Given the description of an element on the screen output the (x, y) to click on. 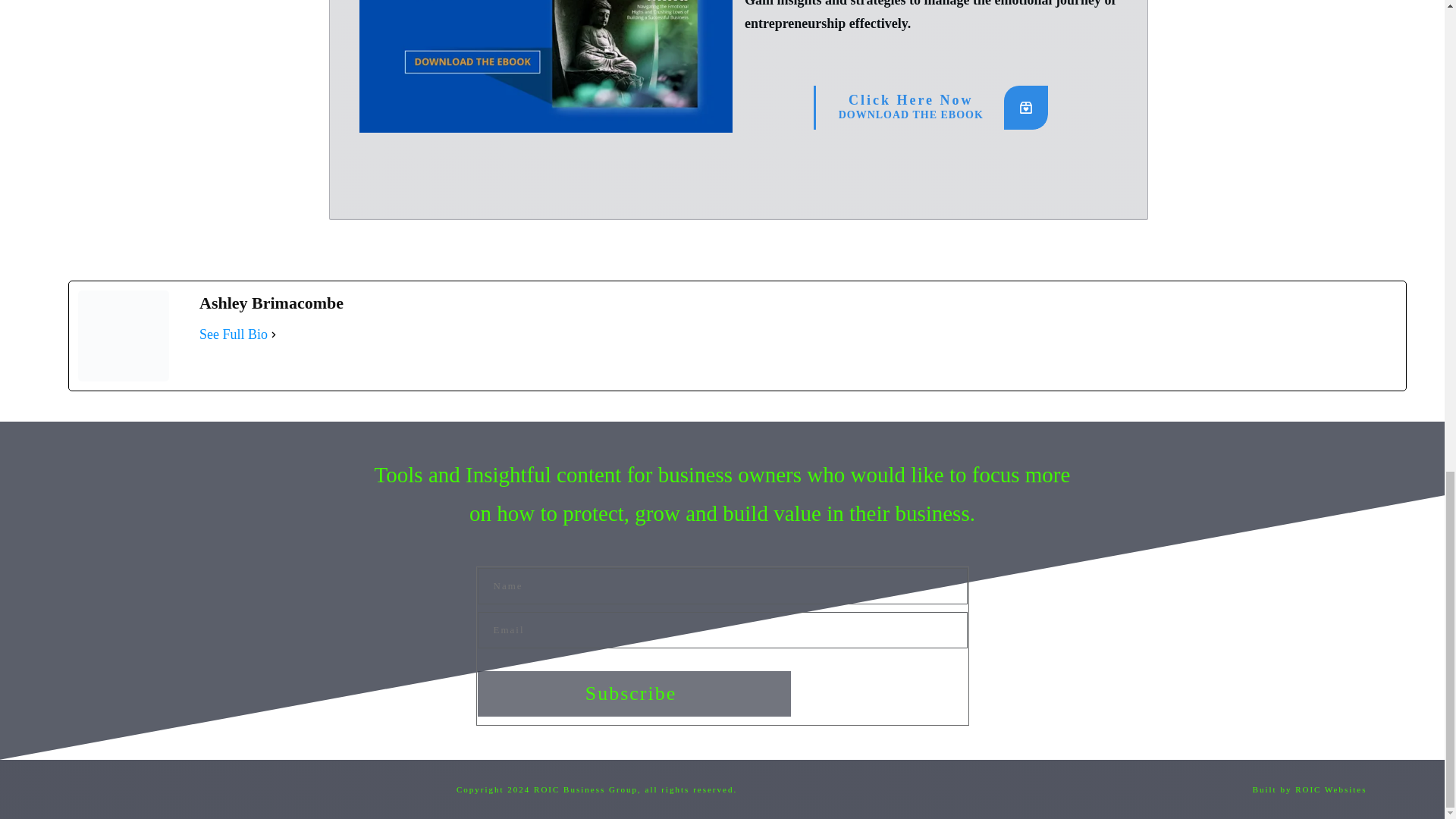
Subscribe  (633, 693)
Monkey Mind - Download - ROIC Business Group (546, 66)
See Full Bio (930, 106)
Built by ROIC Websites (233, 334)
